Given the description of an element on the screen output the (x, y) to click on. 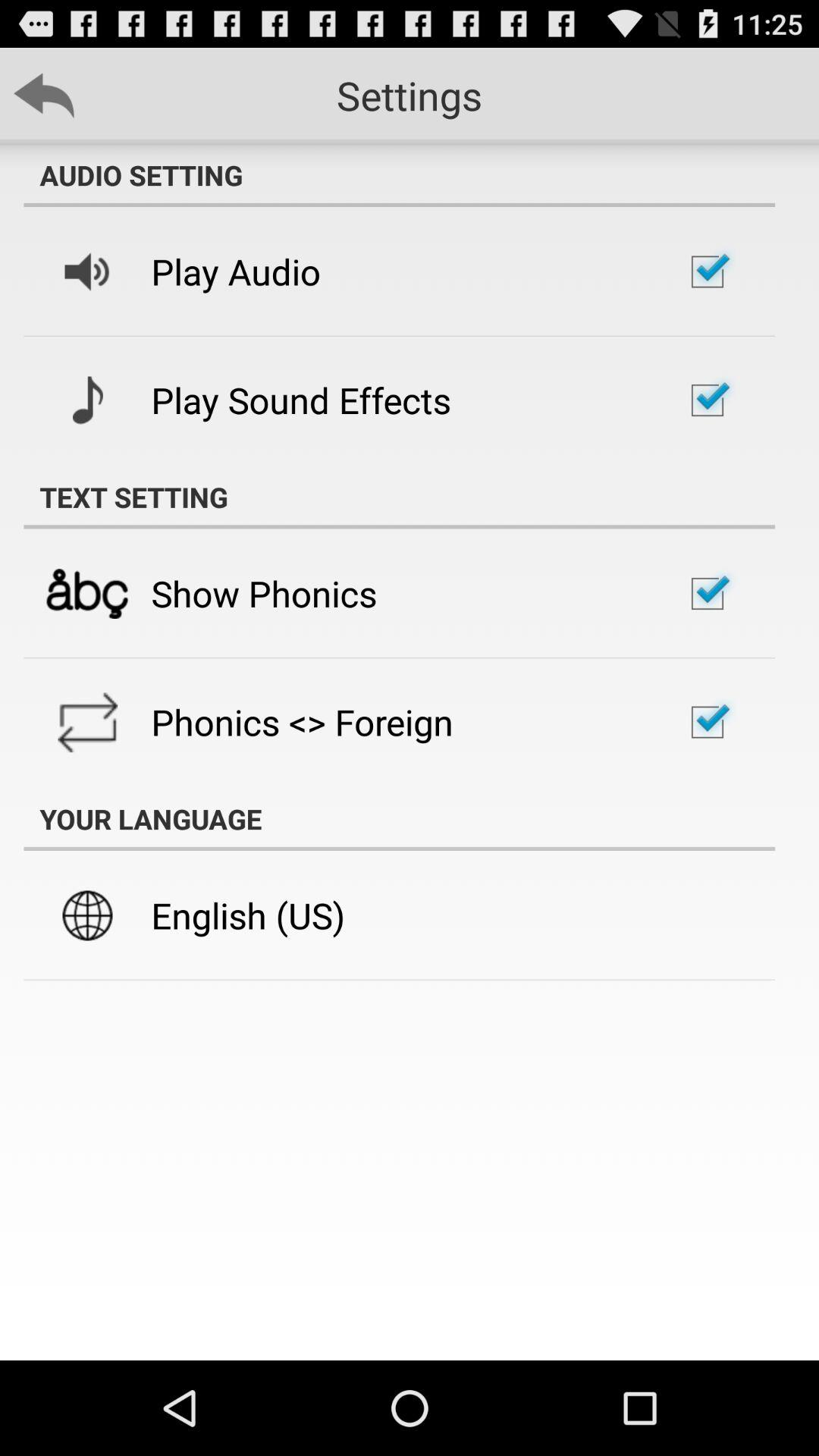
flip until play audio icon (235, 271)
